Given the description of an element on the screen output the (x, y) to click on. 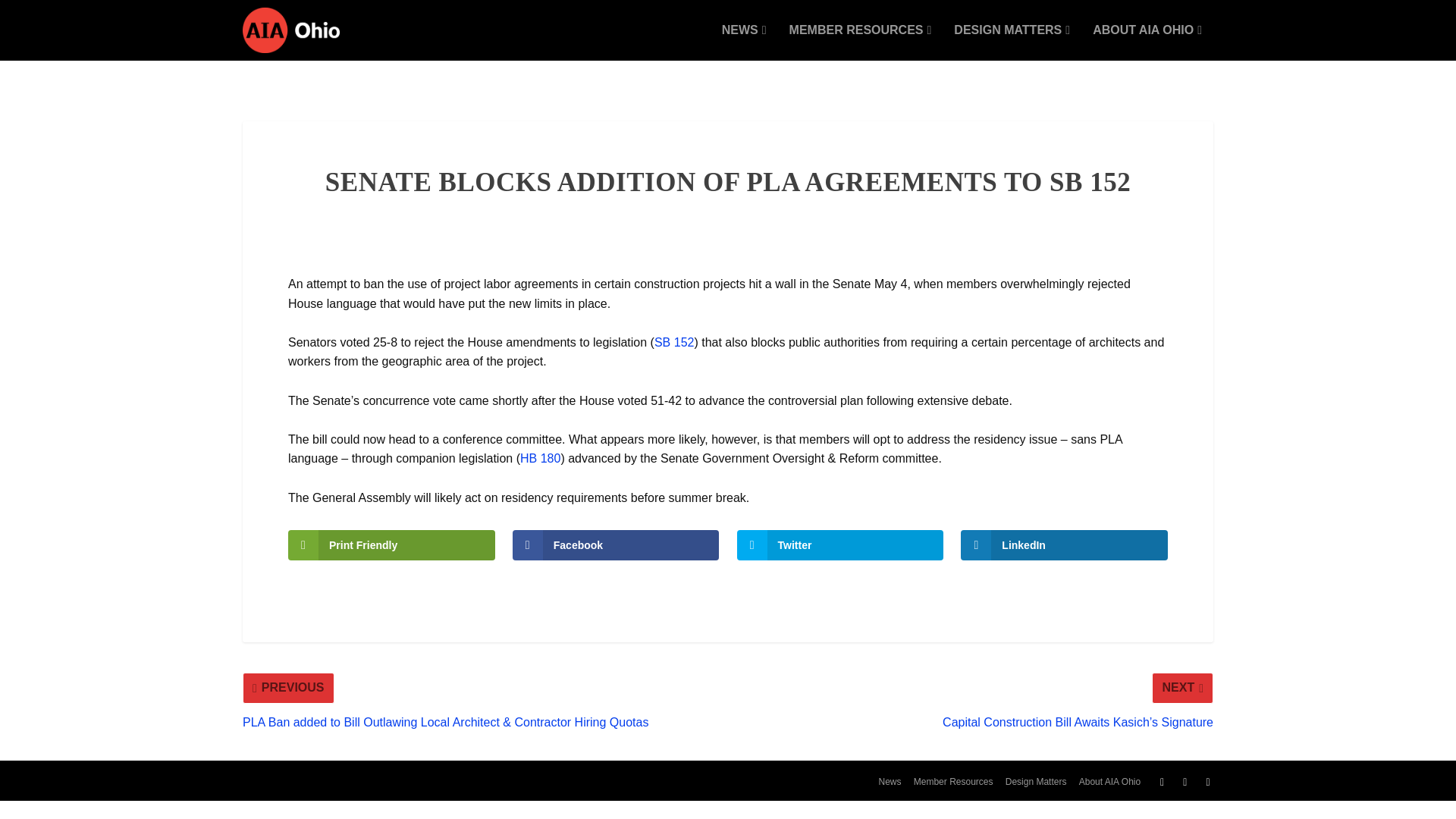
MEMBER RESOURCES (860, 42)
ABOUT AIA OHIO (1147, 42)
NEWS (744, 42)
Premium WordPress Themes (361, 778)
DESIGN MATTERS (1011, 42)
